Given the description of an element on the screen output the (x, y) to click on. 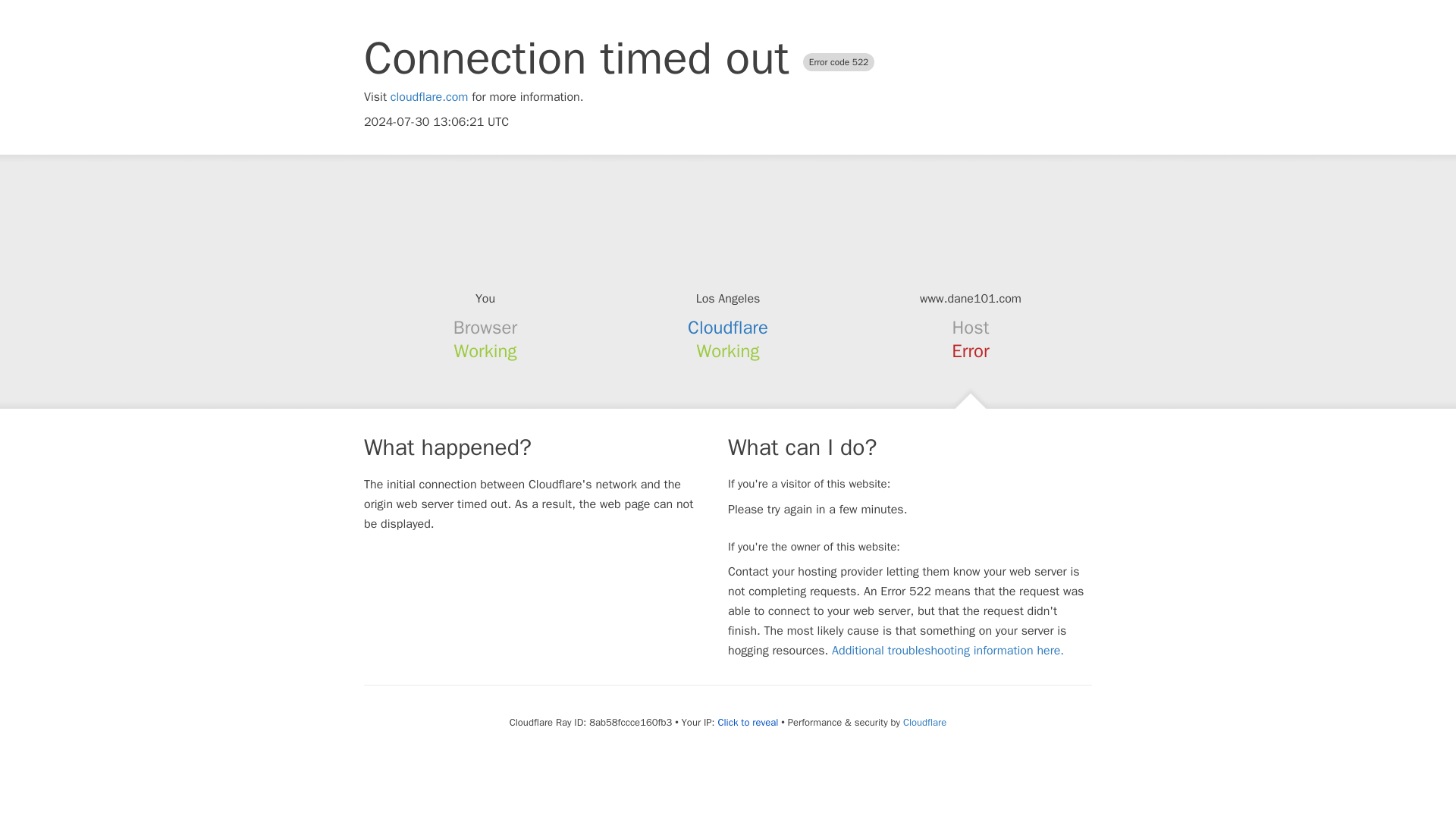
Cloudflare (727, 327)
Additional troubleshooting information here. (947, 650)
cloudflare.com (429, 96)
Cloudflare (924, 721)
Click to reveal (747, 722)
